Given the description of an element on the screen output the (x, y) to click on. 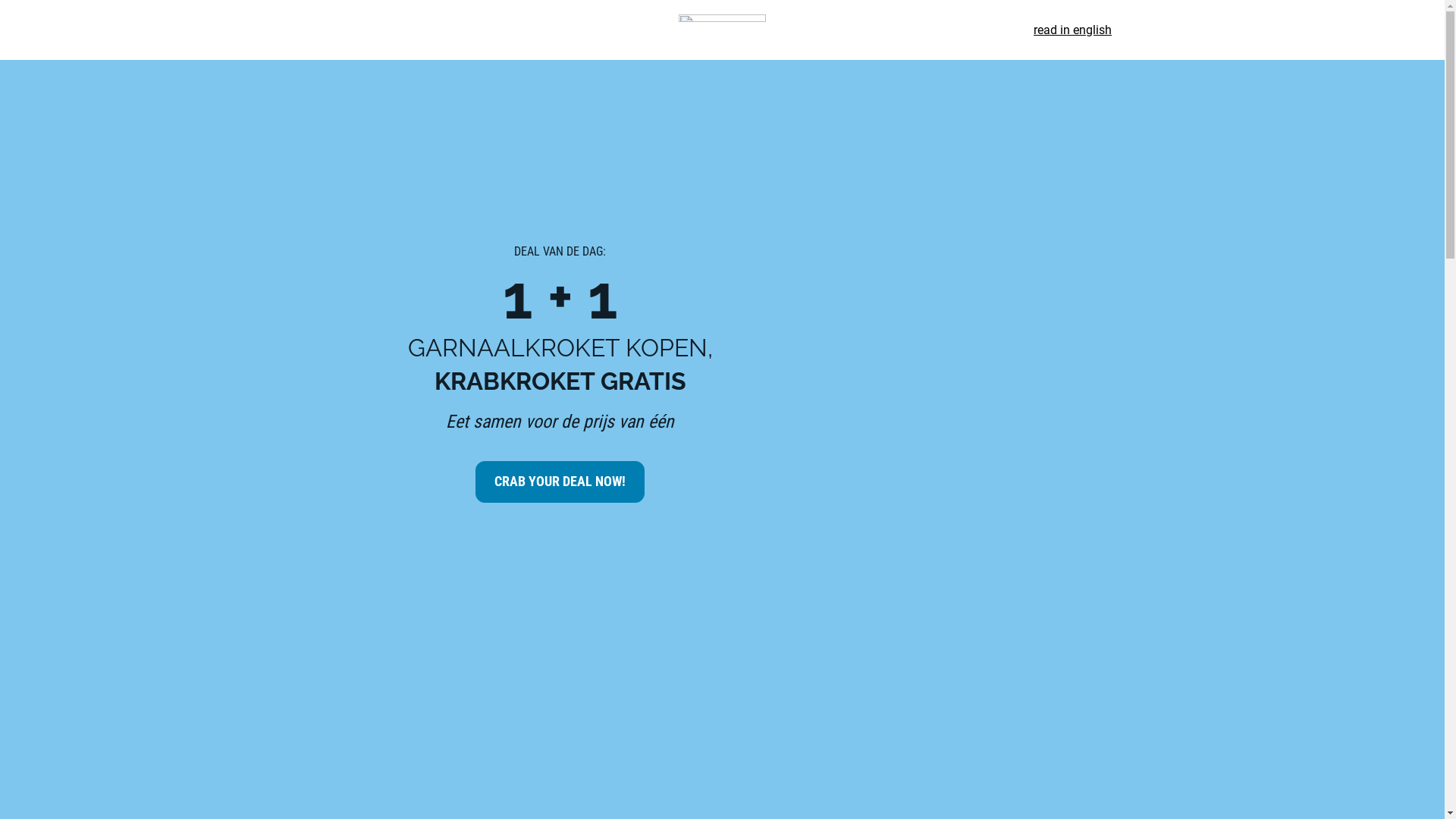
CRAB YOUR DEAL NOW! Element type: text (559, 481)
read in english Element type: text (1072, 29)
